Given the description of an element on the screen output the (x, y) to click on. 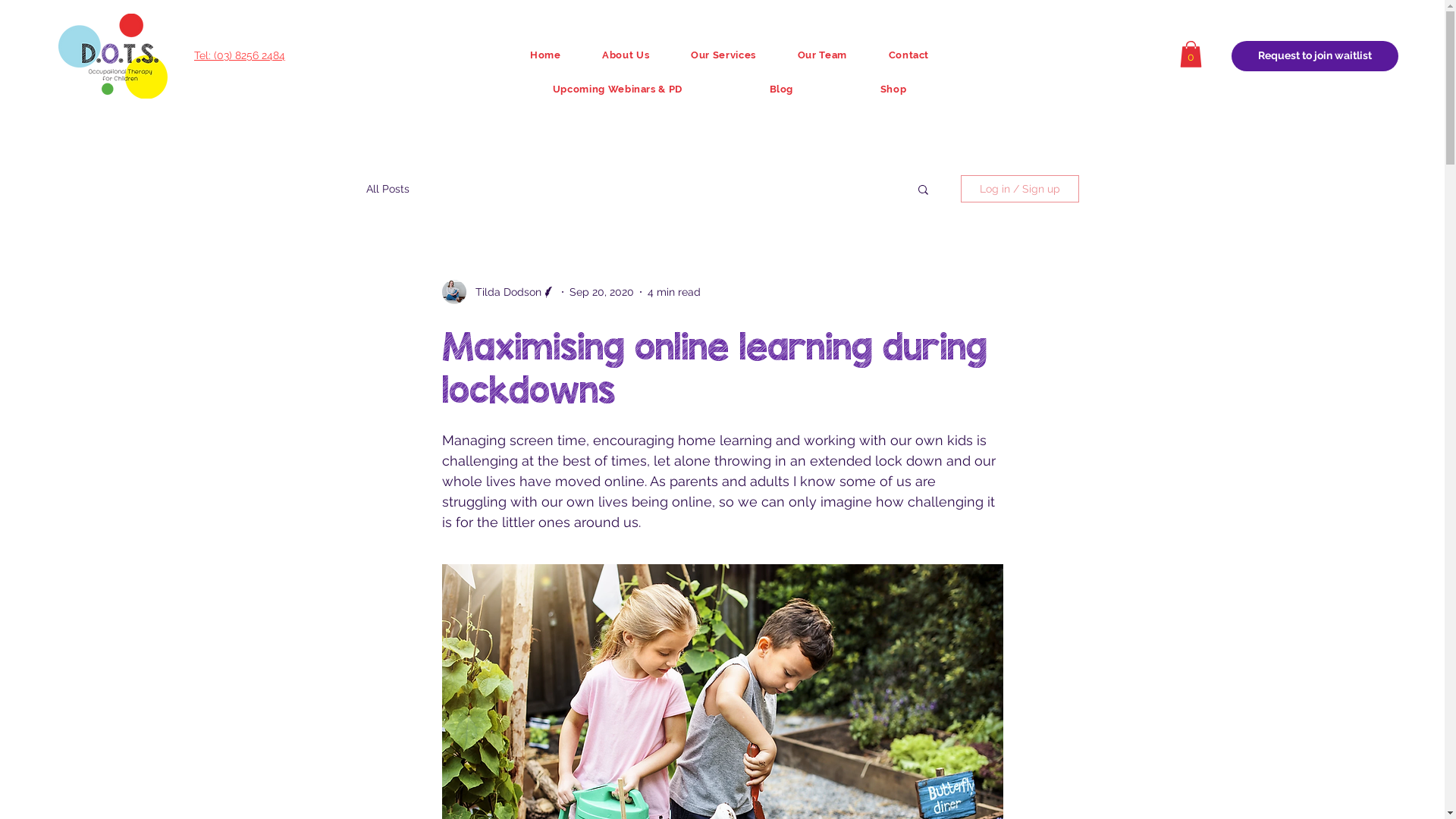
Request to join waitlist Element type: text (1314, 55)
Our Team Element type: text (821, 55)
Blog Element type: text (780, 89)
Log in / Sign up Element type: text (1019, 188)
Upcoming Webinars & PD Element type: text (617, 89)
About Us Element type: text (625, 55)
0 Element type: text (1190, 53)
Home Element type: text (545, 55)
Contact Element type: text (908, 55)
Our Services Element type: text (723, 55)
Tel: (03) 8256 2484 Element type: text (239, 55)
Shop Element type: text (892, 89)
Dots OT for Children Logo (1) (1).png Element type: hover (112, 55)
All Posts Element type: text (386, 188)
